Given the description of an element on the screen output the (x, y) to click on. 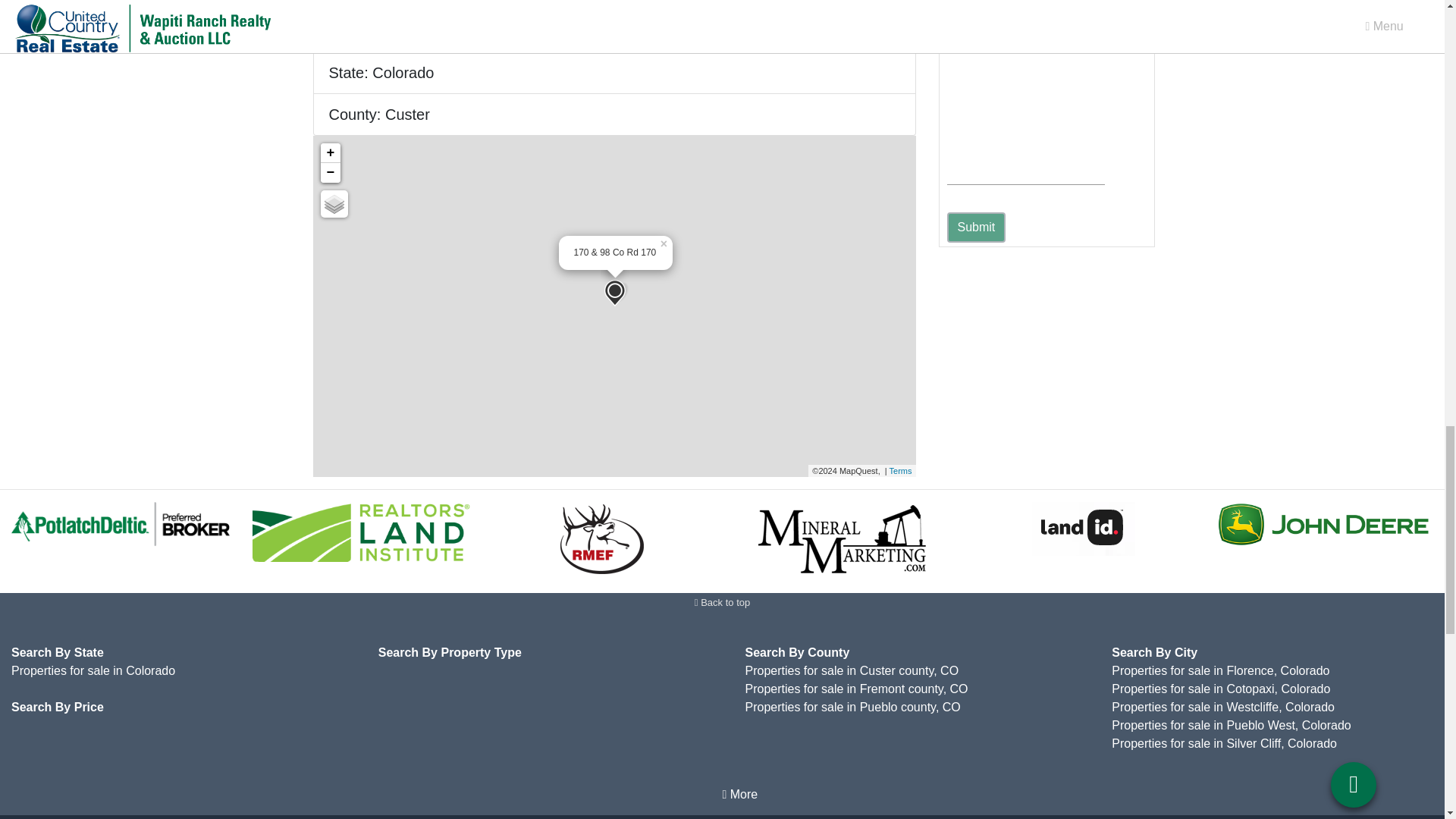
Layers (333, 203)
Zoom out (329, 172)
Submit (976, 227)
Zoom in (329, 152)
Terms (900, 470)
